Given the description of an element on the screen output the (x, y) to click on. 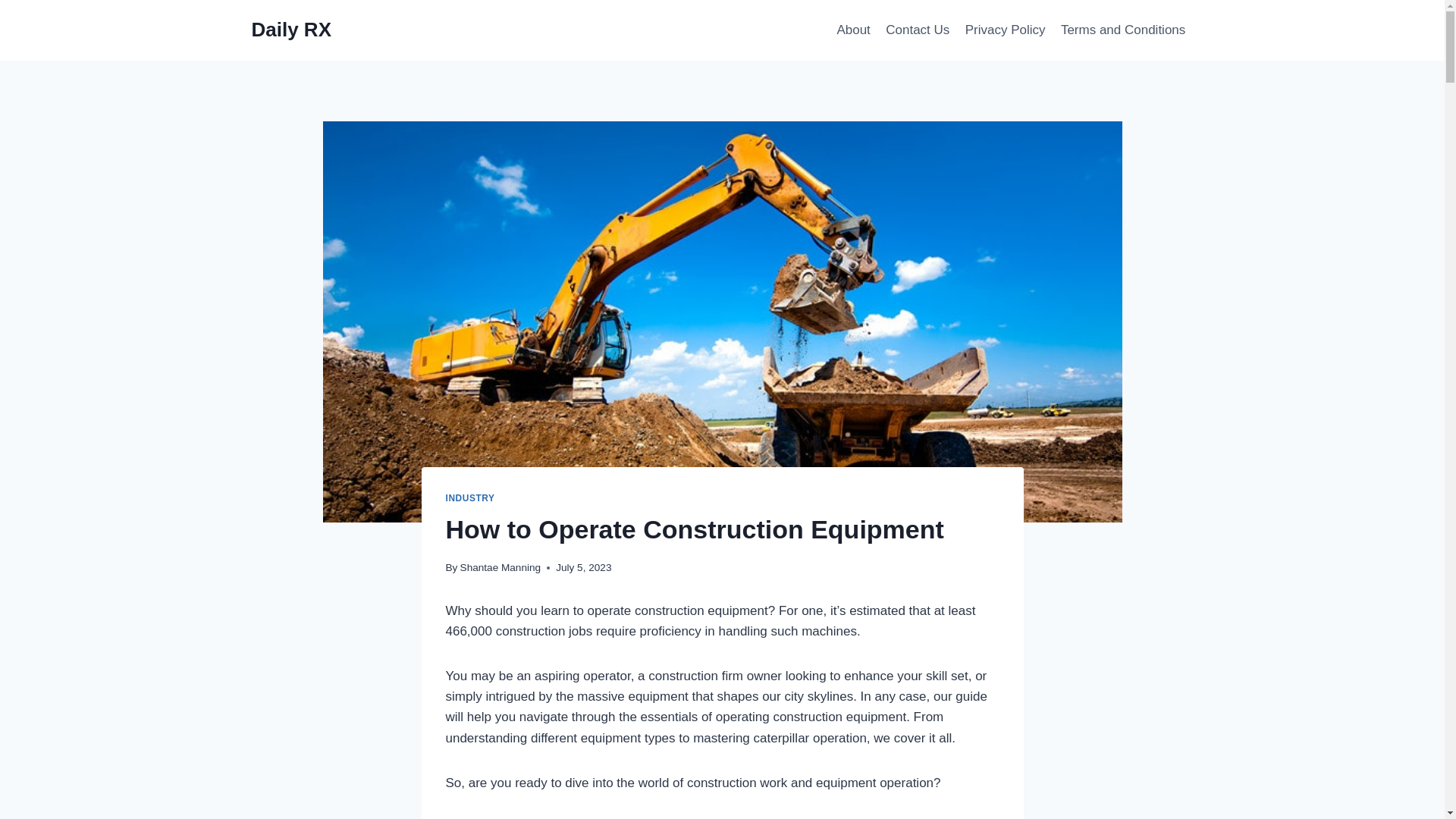
Privacy Policy (1005, 30)
Privacy Policy (1005, 30)
Terms and Conditions (1122, 30)
Daily RX (291, 29)
Daily RX (291, 29)
Shantae Manning (500, 567)
Terms and Conditions (1122, 30)
About (852, 30)
Shantae Manning (500, 567)
Contact Us (916, 30)
About (852, 30)
Industry (470, 498)
INDUSTRY (470, 498)
Contact Us (916, 30)
